Given the description of an element on the screen output the (x, y) to click on. 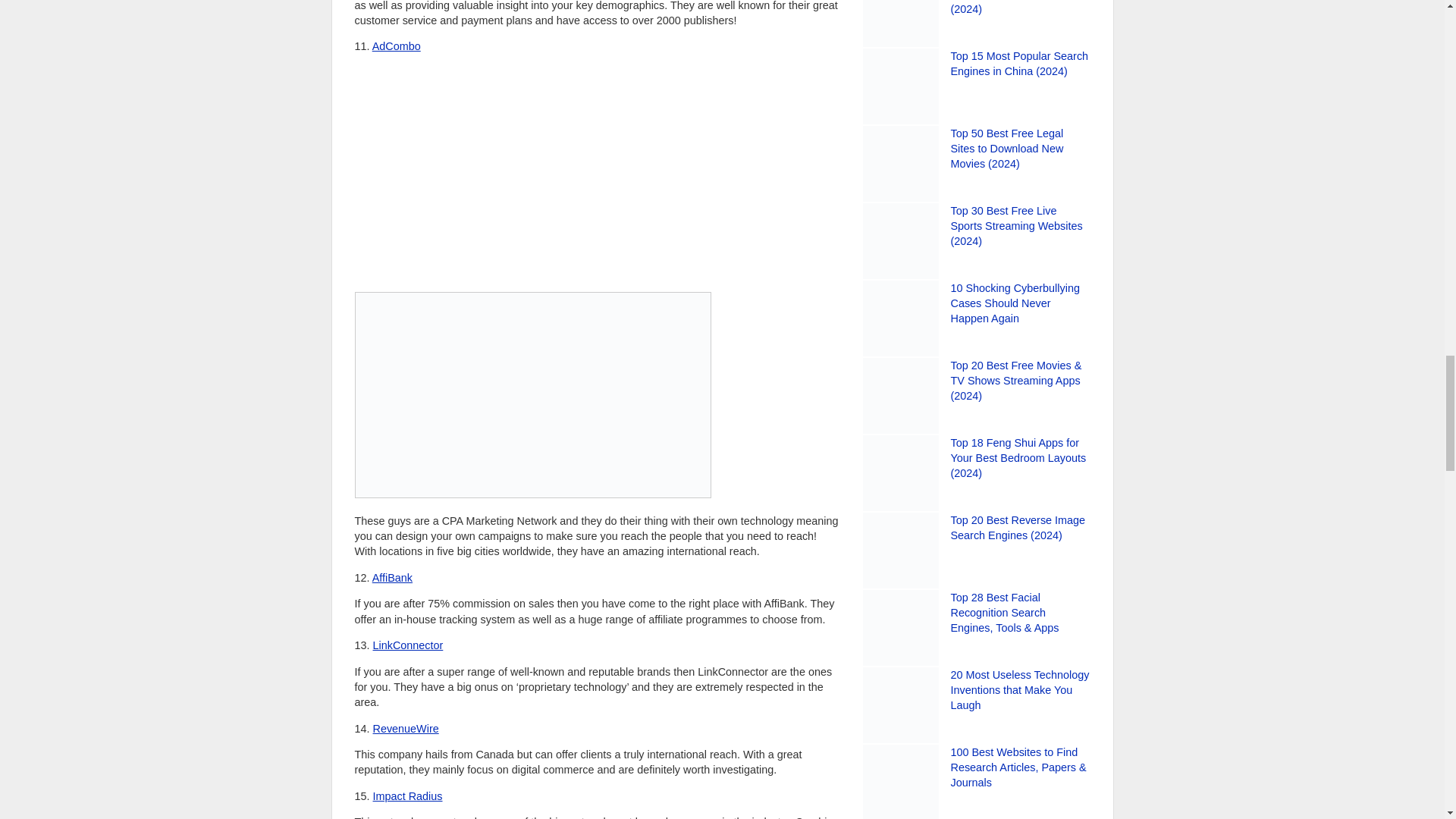
AdCombo (396, 46)
RevenueWire (405, 728)
LinkConnector (408, 645)
Impact Radius (407, 796)
AffiBank (392, 577)
